Given the description of an element on the screen output the (x, y) to click on. 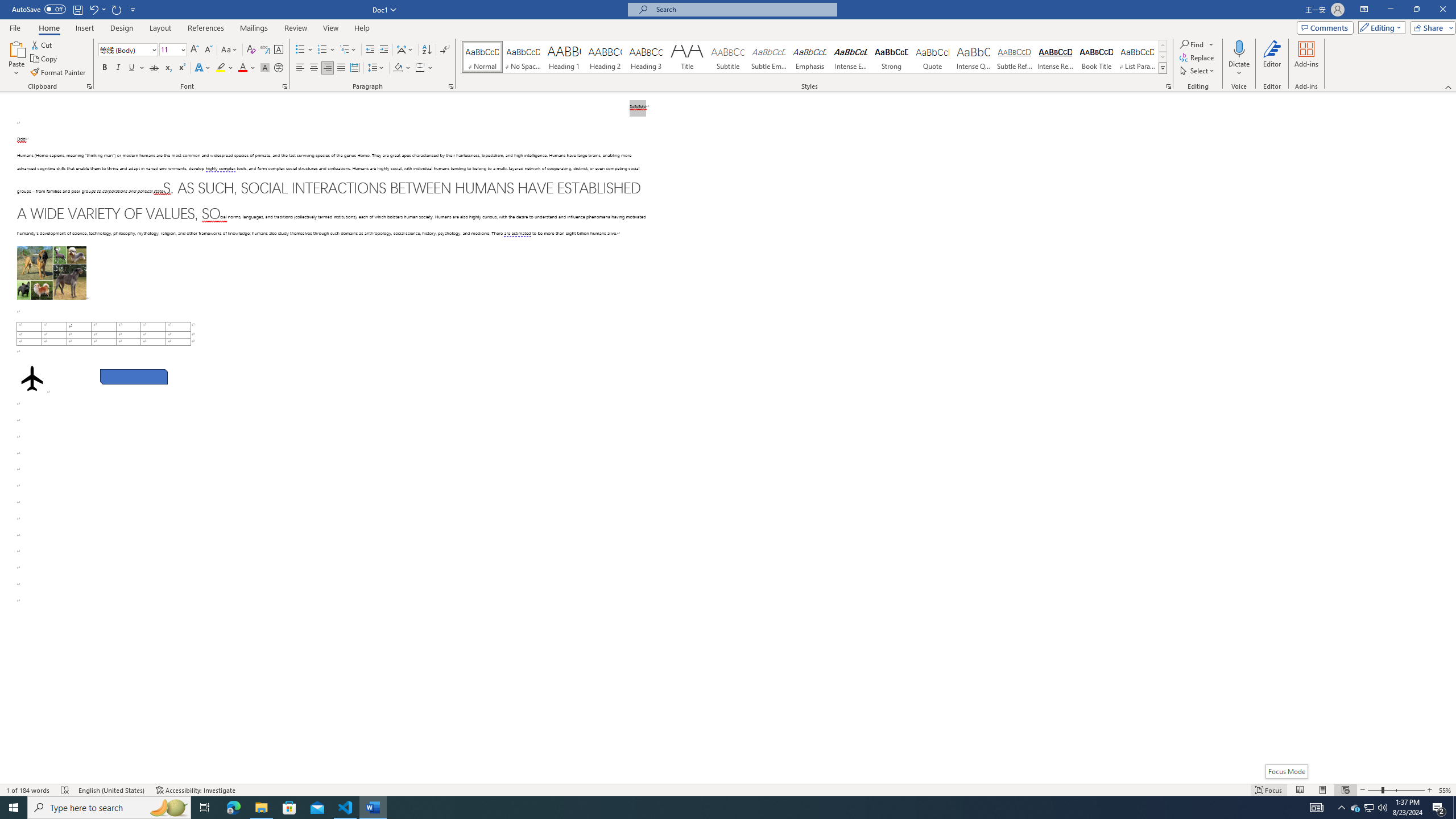
Subtle Emphasis (768, 56)
Quote (932, 56)
Focus Mode (1286, 771)
Repeat Paragraph Alignment (117, 9)
Emphasis (809, 56)
